Given the description of an element on the screen output the (x, y) to click on. 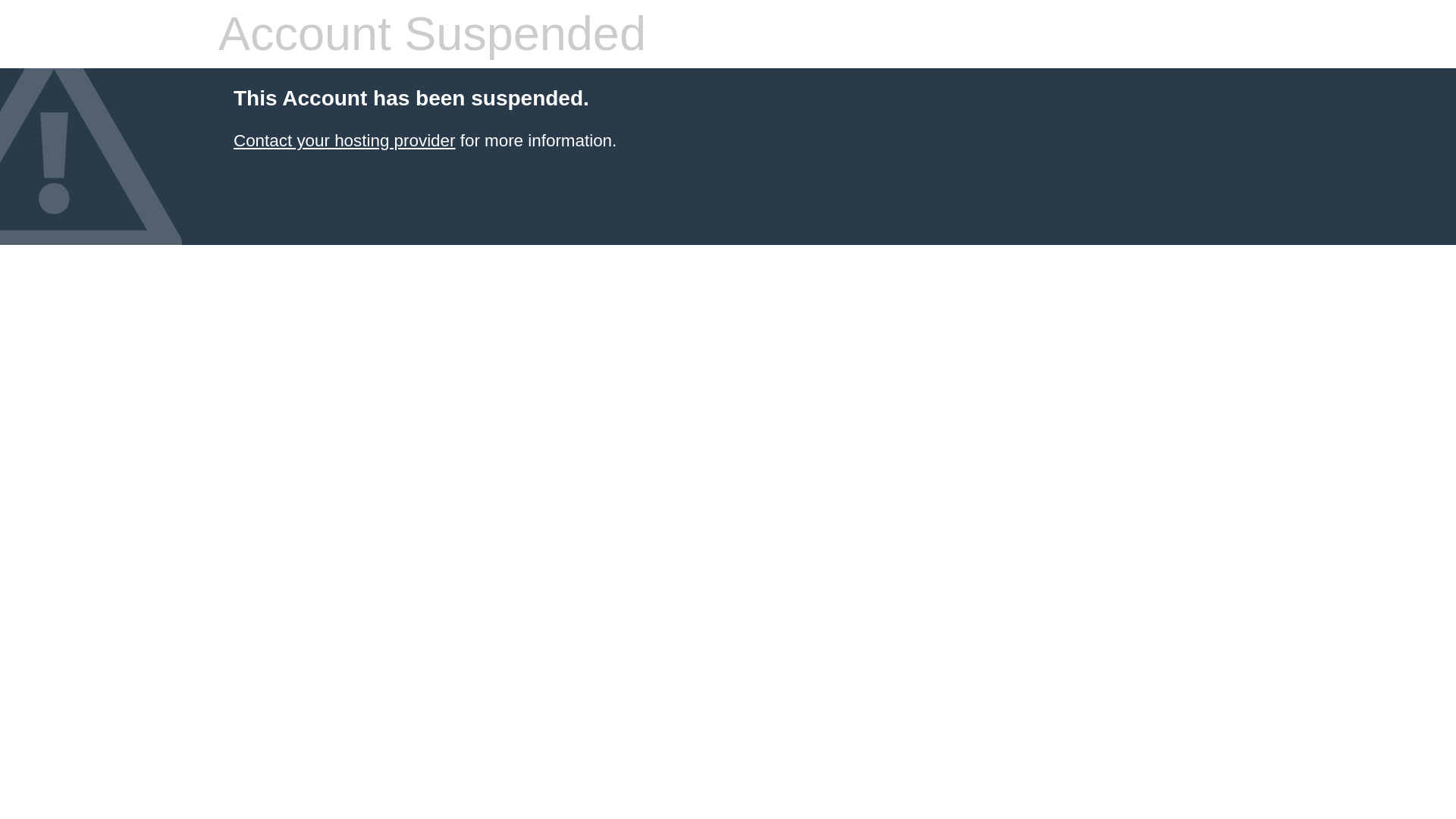
Contact your hosting provider (343, 140)
